Given the description of an element on the screen output the (x, y) to click on. 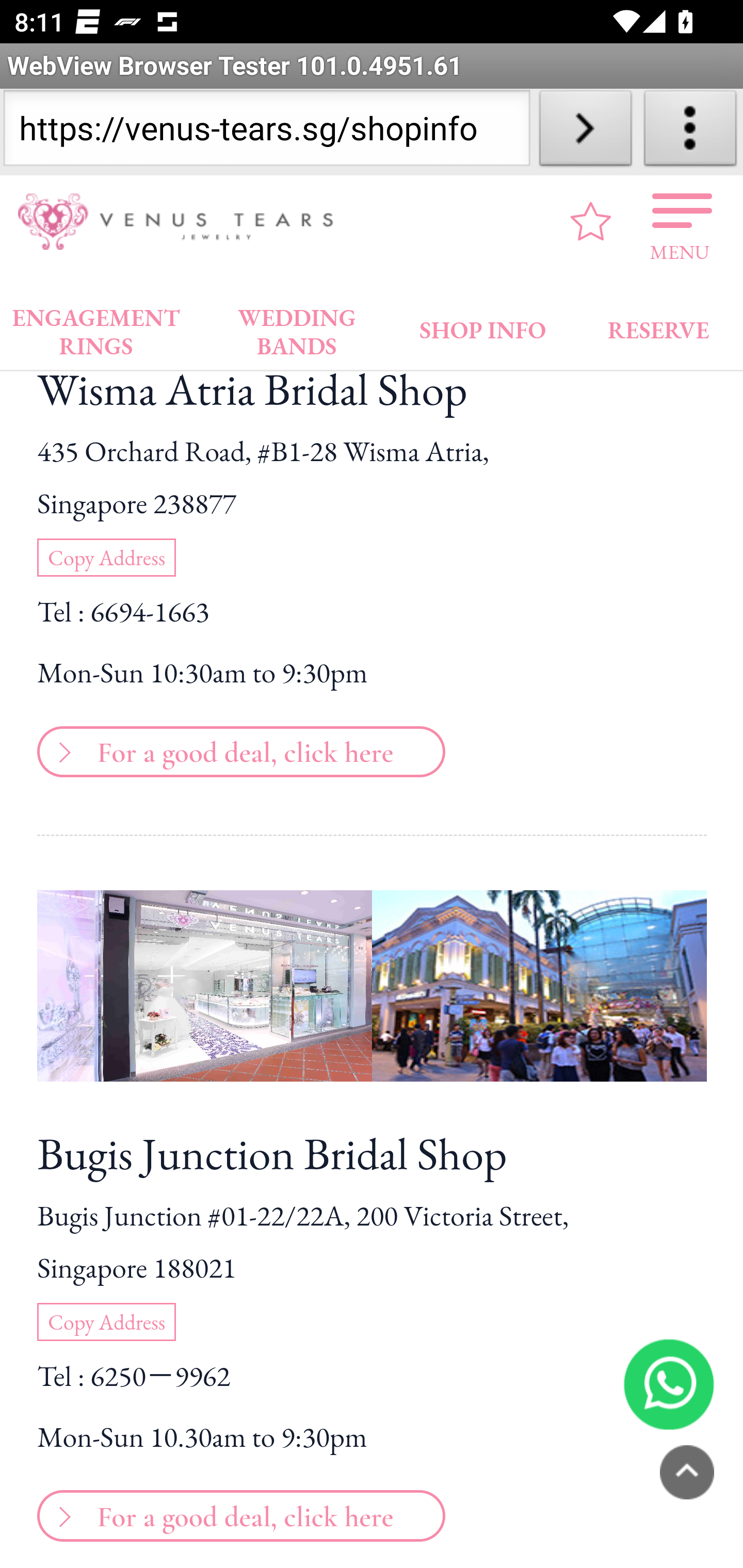
https://venus-tears.sg/shopinfo (266, 132)
Load URL (585, 132)
About WebView (690, 132)
favourite (591, 222)
MENU (680, 221)
VENUS TEARS (181, 221)
ENGAGEMENT RINGS ENGAGEMENT RINGS (96, 327)
WEDDING BANDS WEDDING BANDS (296, 327)
SHOP INFO (482, 325)
RESERVE (657, 325)
Wisma Atria Bridal Shop (372, 391)
Copy Address (106, 558)
For a good deal, click here (238, 749)
Bugis Junction Bridal Shop (372, 1154)
Copy Address (106, 1323)
6585184875 (668, 1385)
PAGETOP (686, 1473)
For a good deal, click here (238, 1513)
